Given the description of an element on the screen output the (x, y) to click on. 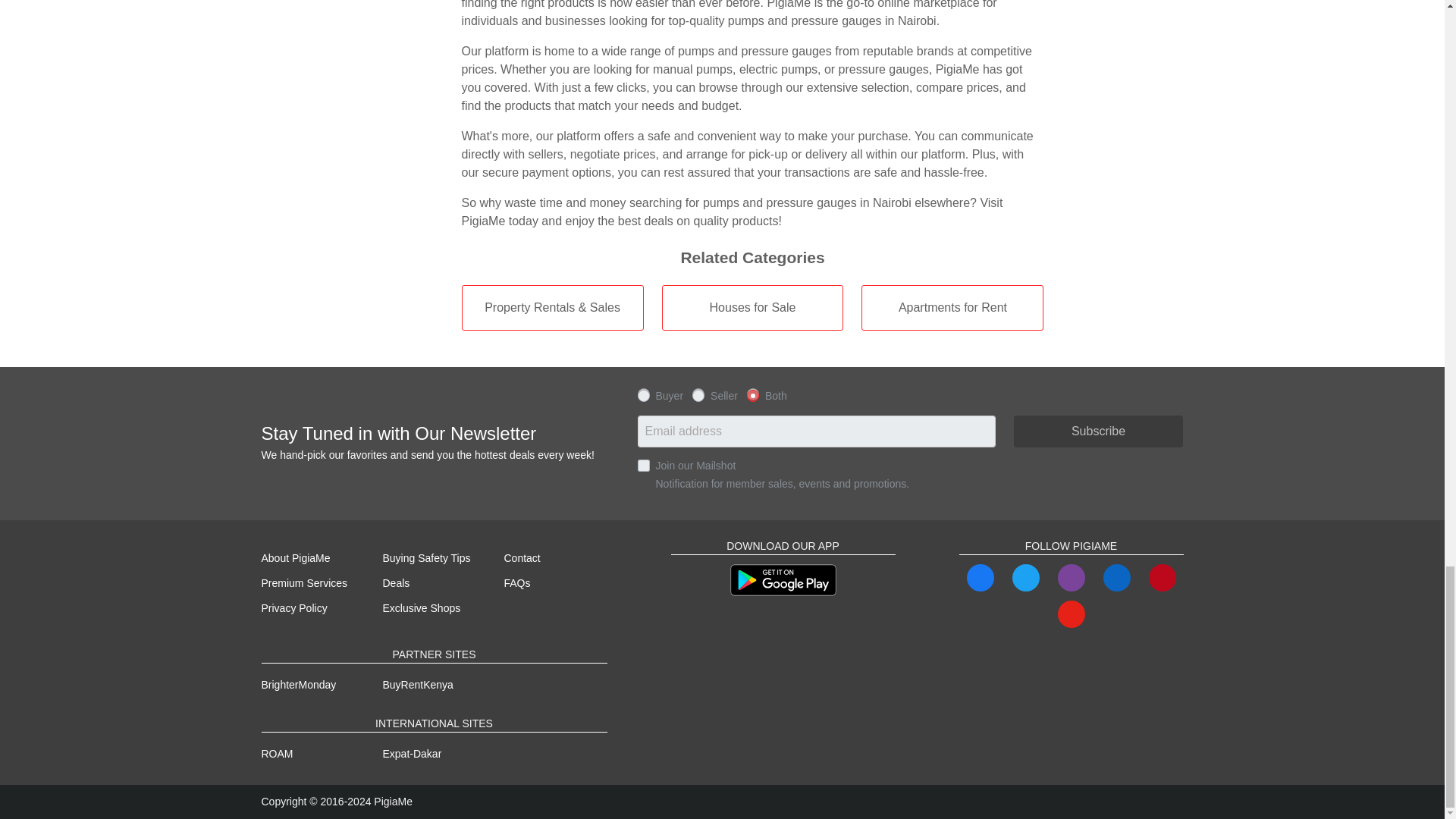
user (643, 394)
advertiser (698, 394)
both (752, 394)
1 (643, 465)
